Given the description of an element on the screen output the (x, y) to click on. 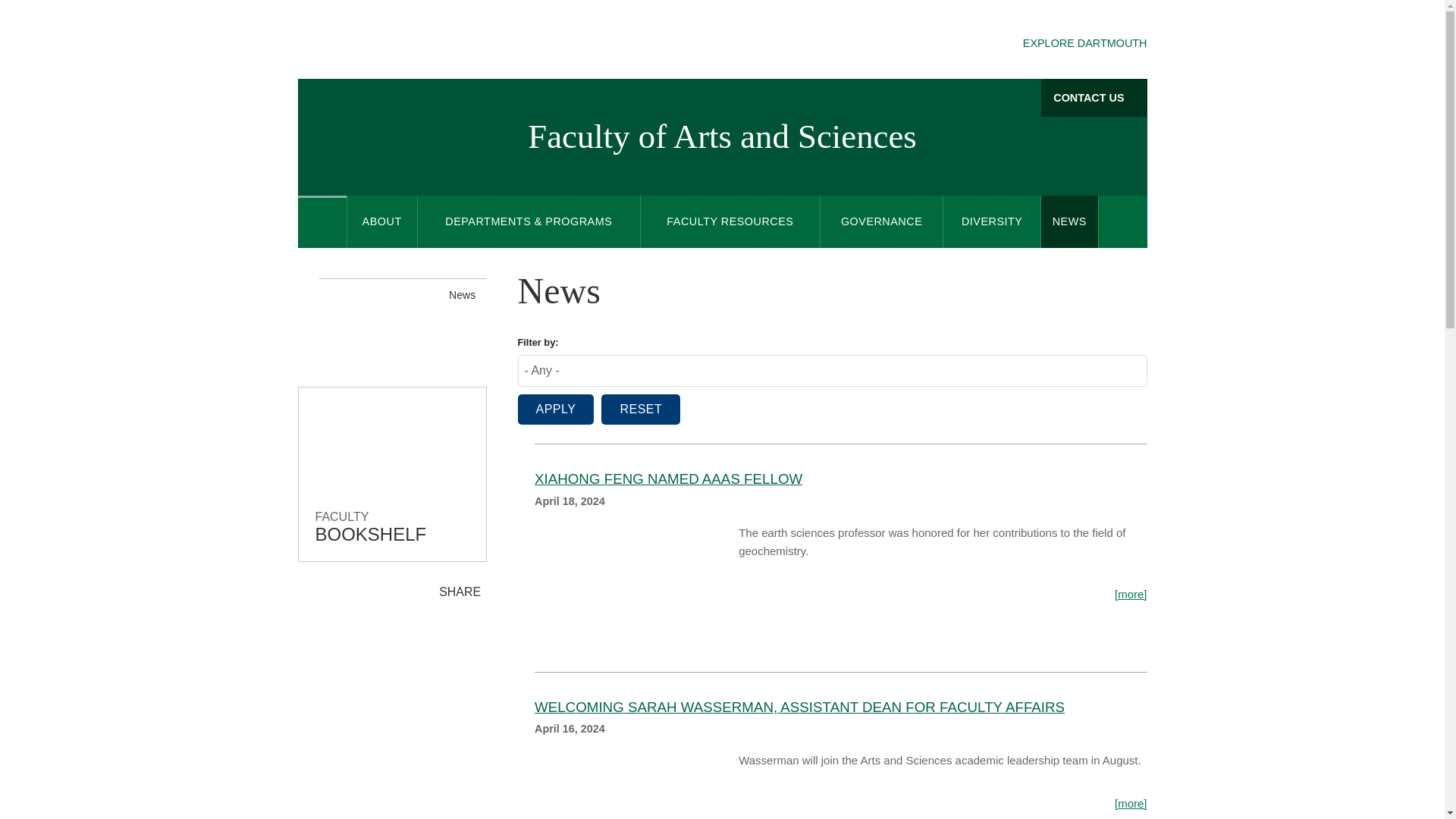
EXPLORE DARTMOUTH (1071, 43)
Bookshelf (392, 474)
Top Stories (636, 581)
Home (321, 221)
Dartmouth College (417, 41)
